Given the description of an element on the screen output the (x, y) to click on. 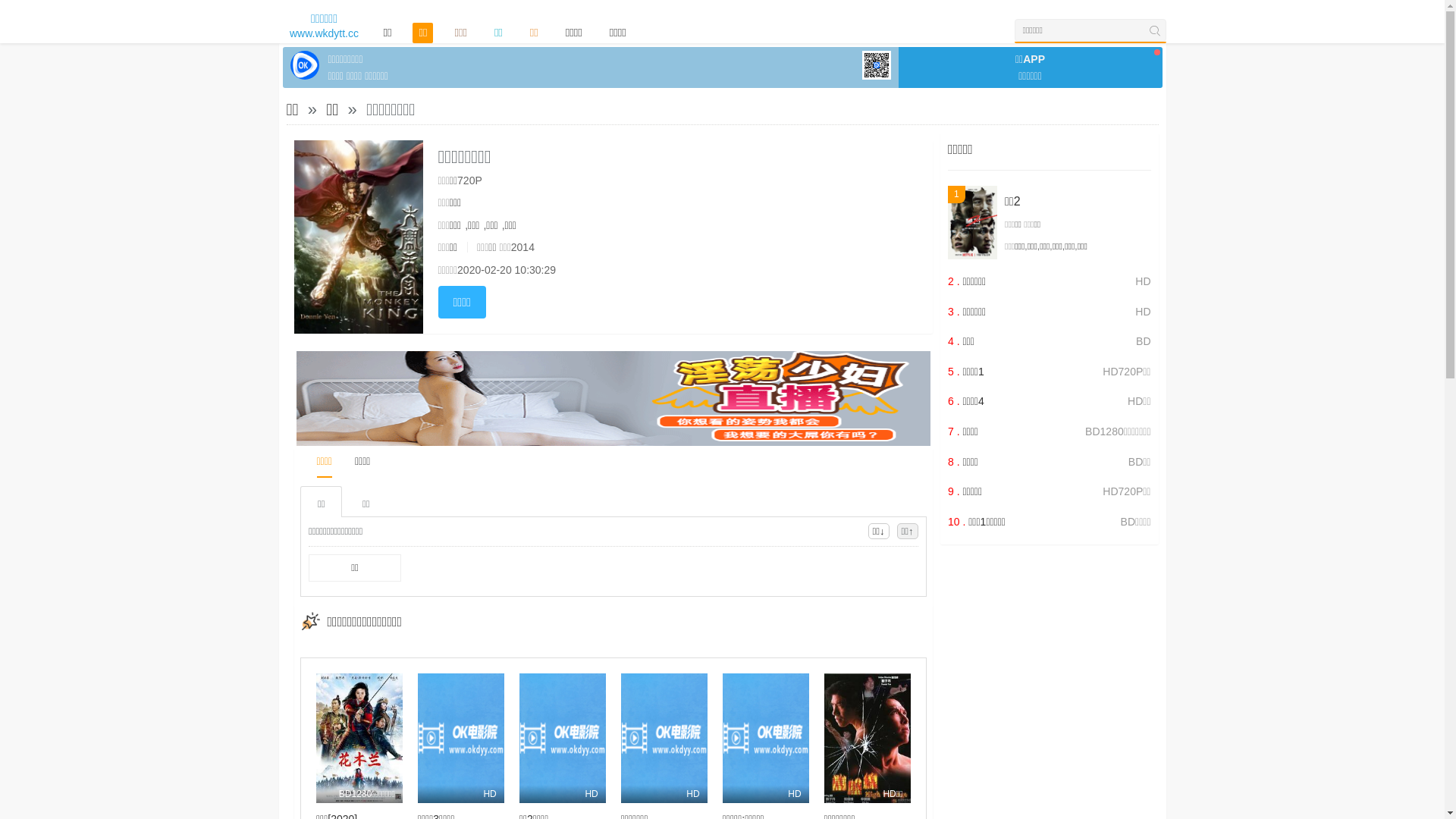
HD Element type: text (664, 738)
1 Element type: text (972, 222)
HD Element type: text (765, 738)
HD Element type: text (562, 738)
HD Element type: text (460, 738)
